Given the description of an element on the screen output the (x, y) to click on. 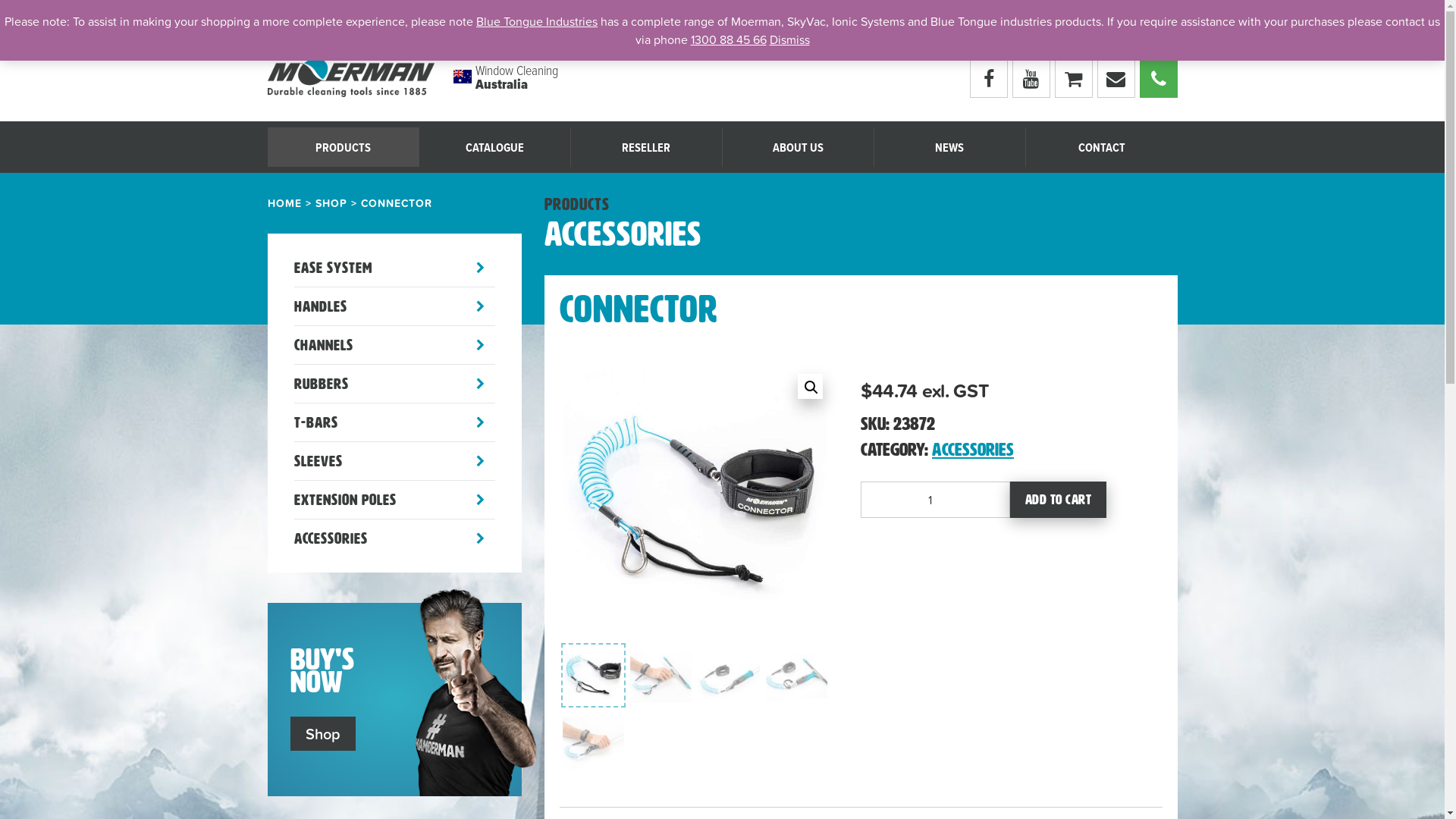
PRODUCTS Element type: text (341, 146)
Rubbers Element type: text (394, 383)
mm-connector-01 Element type: hover (694, 501)
T-Bars Element type: text (394, 422)
Accessories Element type: text (976, 453)
Visit Moerman Australia's facebook page Element type: text (988, 78)
CATALOGUE Element type: text (493, 146)
Ease System Element type: text (394, 267)
Qty Element type: hover (935, 499)
MY ACCOUNT Element type: text (1149, 18)
Add to cart Element type: text (1058, 499)
Sleeves Element type: text (394, 461)
Blue Tongue Industries Element type: text (536, 21)
Handles Element type: text (394, 306)
toggle sub-menu Element type: text (479, 383)
Accessories Element type: text (394, 538)
TOOLBOX LOGIN Element type: text (1072, 18)
toggle sub-menu Element type: text (479, 267)
HOME Element type: text (283, 202)
ABOUT US Element type: text (796, 146)
Dismiss Element type: text (788, 39)
CATALOGUE Element type: text (999, 18)
CONTACT Element type: text (1100, 146)
NEWS Element type: text (948, 146)
toggle sub-menu Element type: text (479, 344)
Call Moerman Australia Element type: text (1157, 78)
Channels Element type: text (394, 345)
SHOP Element type: text (331, 202)
1300 88 45 66 Element type: text (727, 39)
toggle sub-menu Element type: text (479, 499)
toggle sub-menu Element type: text (479, 305)
toggle sub-menu Element type: text (479, 421)
My shopping cart Element type: text (1073, 78)
Visit Moerman Australia's youtube page Element type: text (1030, 78)
Extension Poles Element type: text (394, 499)
Email Moerman Australia Element type: text (1115, 78)
RESELLER Element type: text (645, 146)
toggle sub-menu Element type: text (479, 460)
toggle sub-menu Element type: text (479, 537)
Shop Element type: text (321, 733)
